Given the description of an element on the screen output the (x, y) to click on. 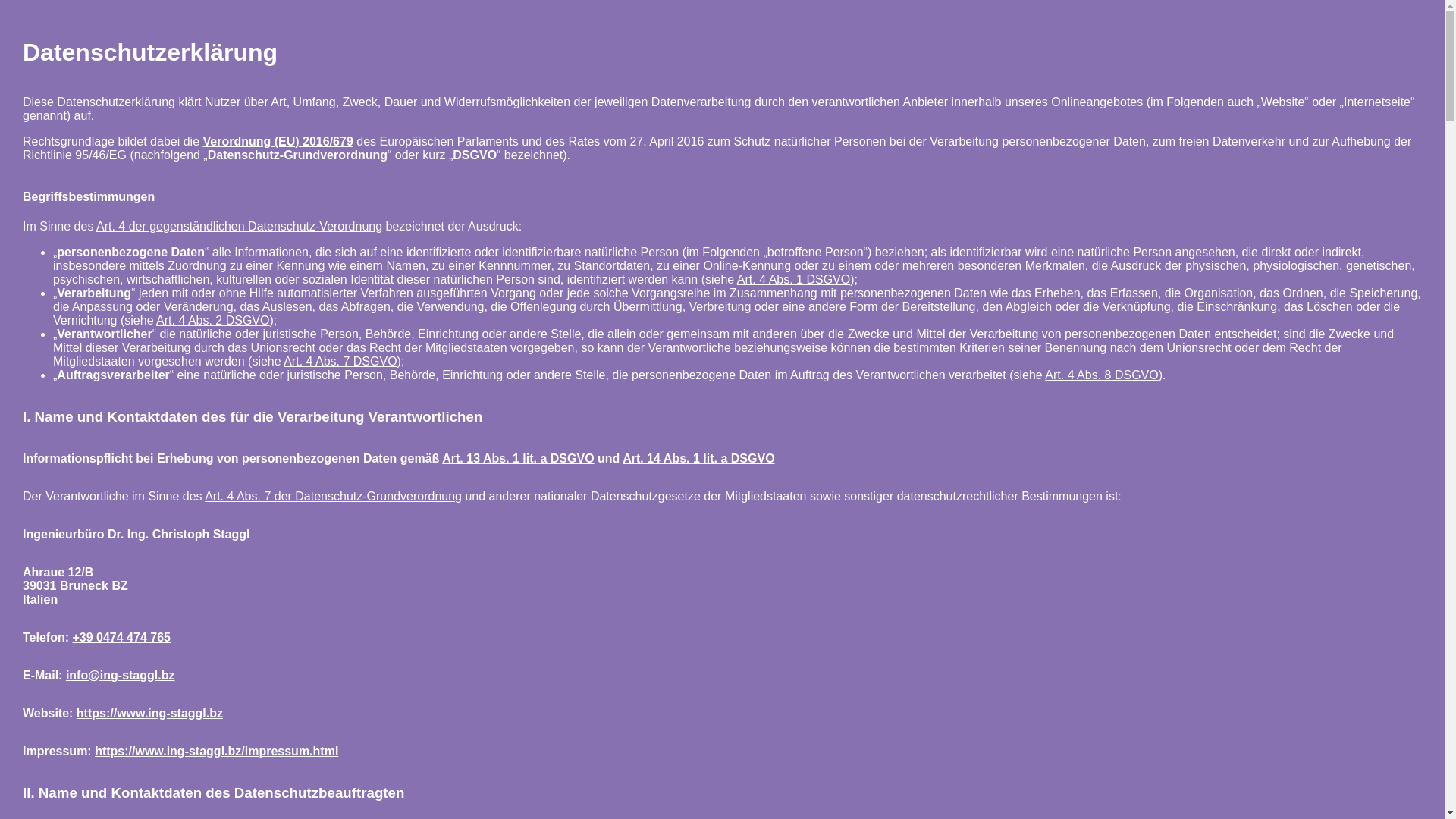
Art. 4 Abs. 7 der Datenschutz-Grundverordnung Element type: text (332, 495)
Art. 4 Abs. 1 DSGVO Element type: text (793, 279)
info@ing-staggl.bz Element type: text (120, 674)
https://www.ing-staggl.bz/impressum.html Element type: text (216, 750)
Art. 13 Abs. 1 lit. a DSGVO Element type: text (517, 457)
Art. 4 Abs. 2 DSGVO Element type: text (212, 319)
Art. 4 Abs. 8 DSGVO Element type: text (1100, 374)
https://www.ing-staggl.bz Element type: text (149, 712)
Art. 4 Abs. 7 DSGVO Element type: text (339, 360)
Verordnung (EU) 2016/679 Element type: text (278, 140)
Art. 14 Abs. 1 lit. a DSGVO Element type: text (698, 457)
+39 0474 474 765 Element type: text (120, 636)
